Given the description of an element on the screen output the (x, y) to click on. 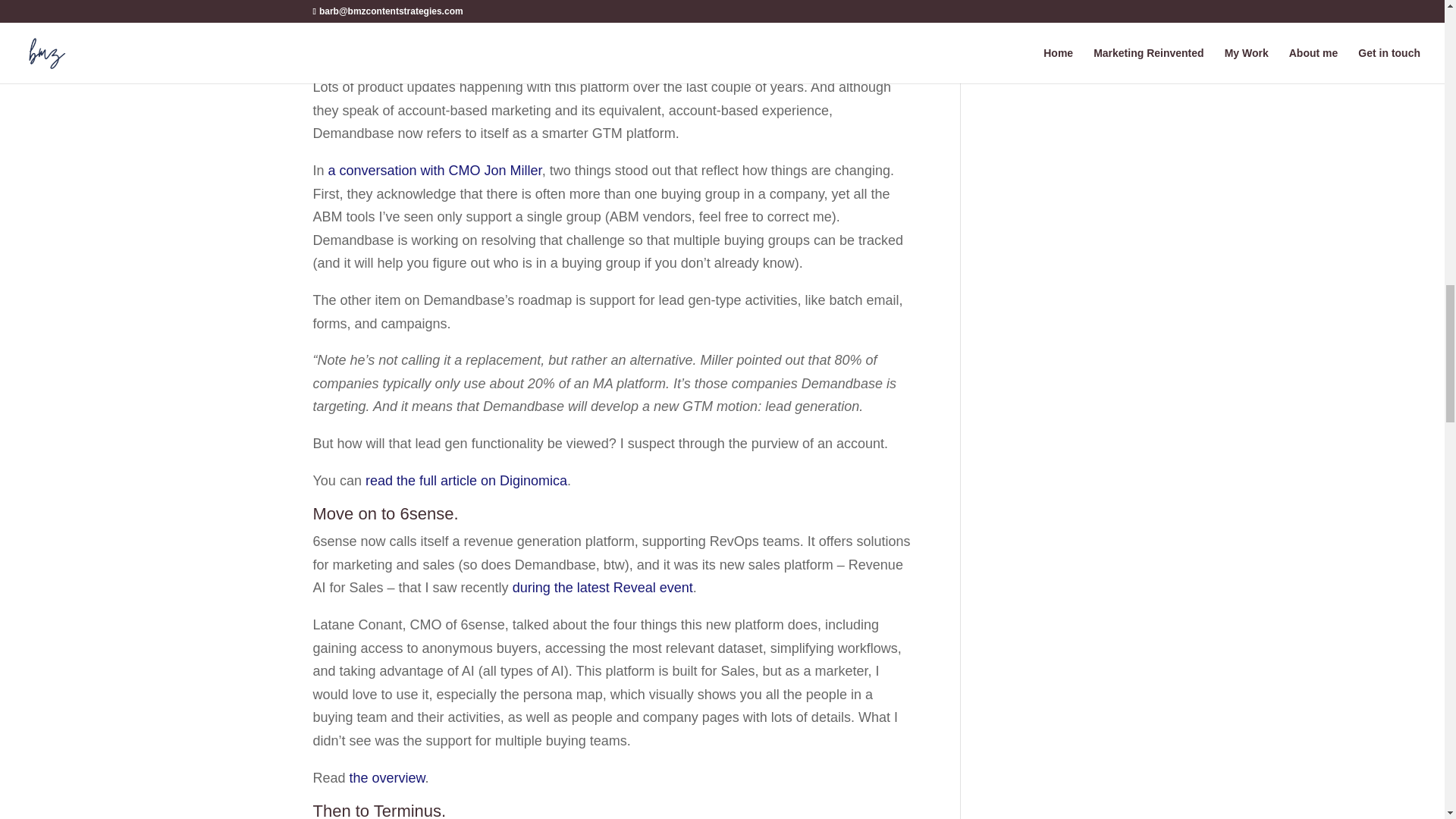
read the full article on Diginomica (466, 480)
during the latest Reveal event (602, 587)
the overview (387, 777)
a conversation with CMO Jon Miller (435, 170)
